Given the description of an element on the screen output the (x, y) to click on. 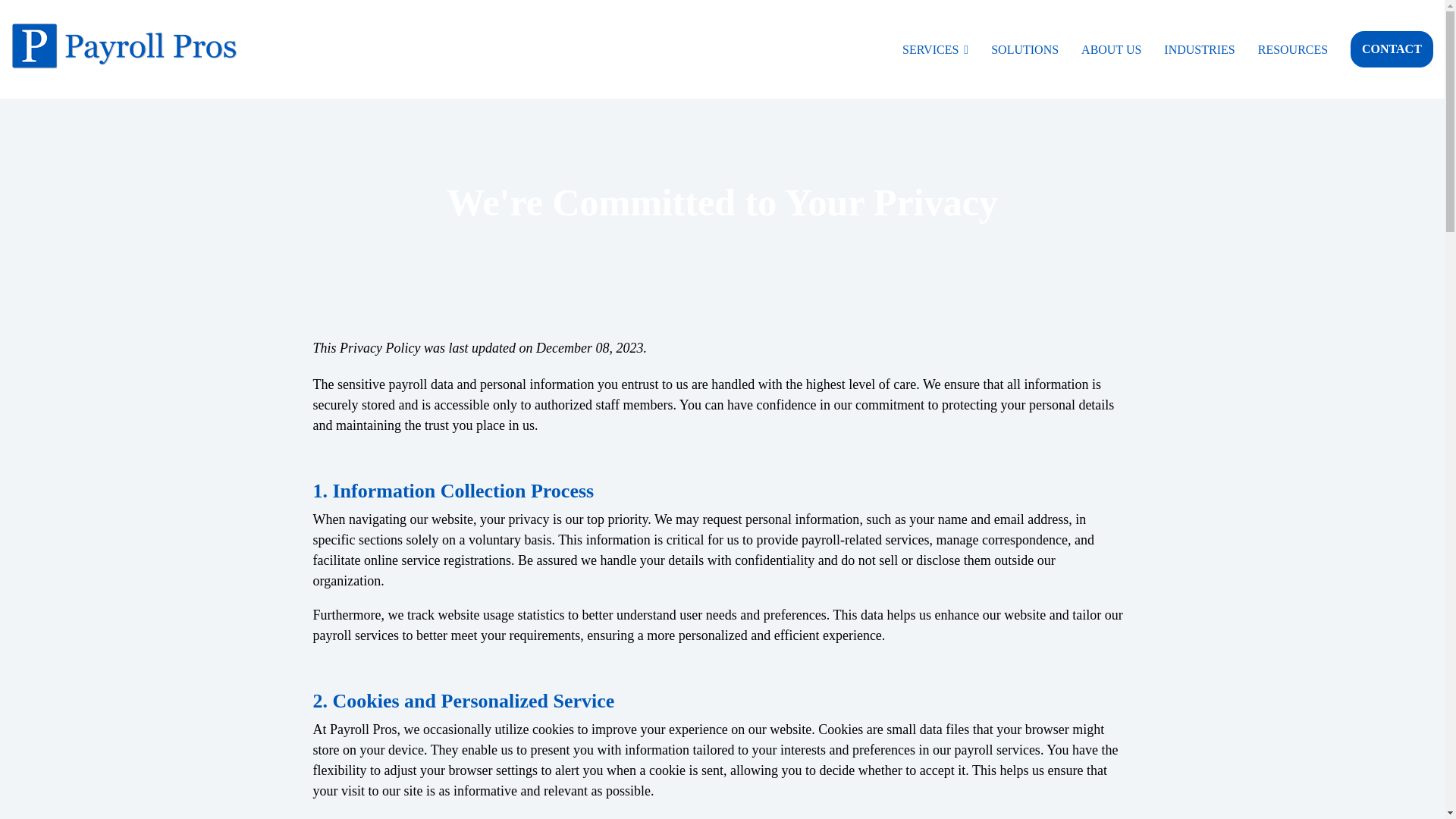
SERVICES (935, 48)
INDUSTRIES (1198, 48)
CONTACT (1391, 49)
SOLUTIONS (1024, 48)
ABOUT US (1111, 48)
RESOURCES (1292, 48)
